Given the description of an element on the screen output the (x, y) to click on. 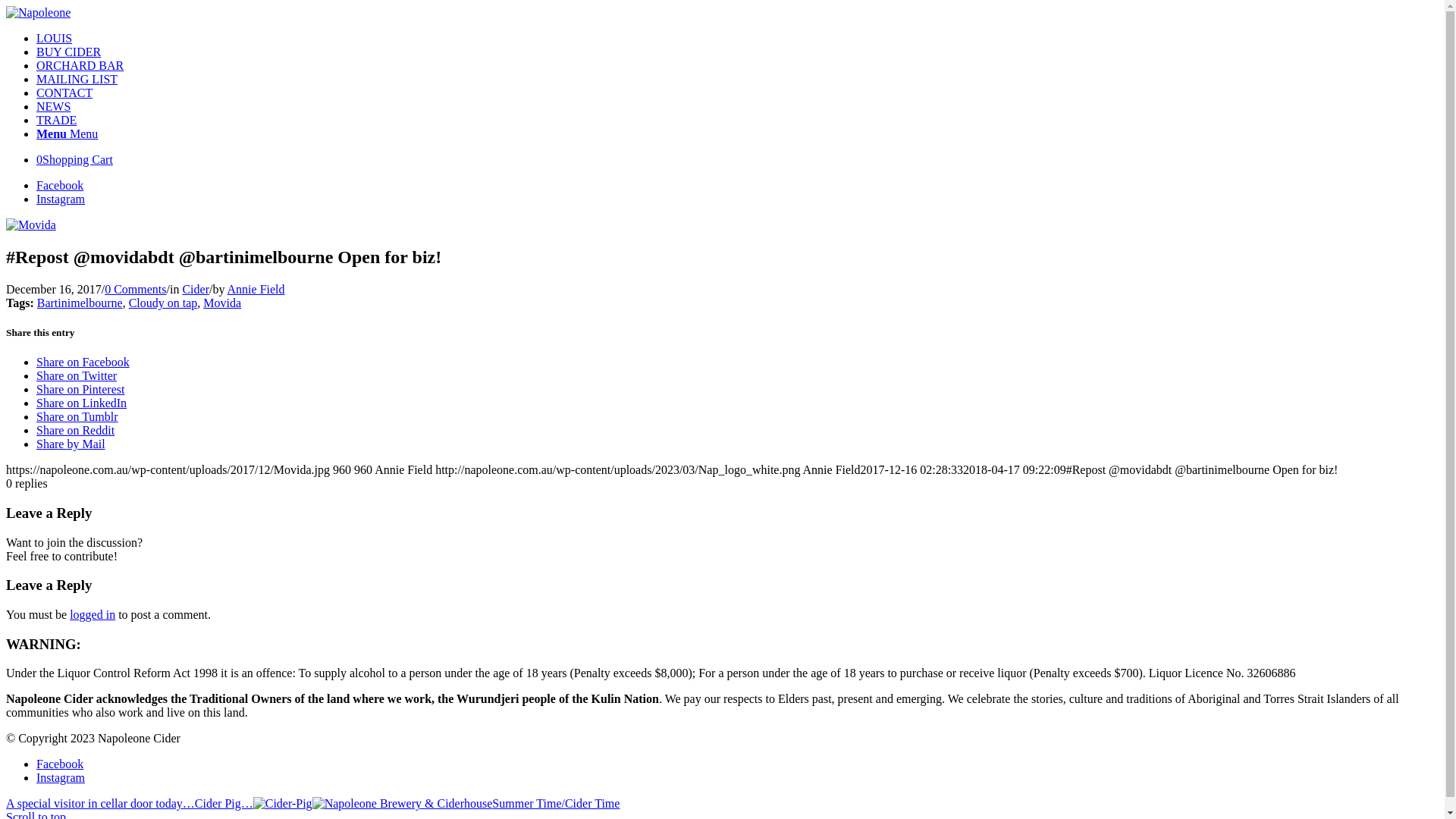
Menu Menu Element type: text (66, 133)
Facebook Element type: text (59, 763)
Annie Field Element type: text (256, 288)
Share on Reddit Element type: text (75, 429)
Share on Tumblr Element type: text (77, 416)
NEWS Element type: text (53, 106)
logged in Element type: text (92, 614)
Movida Element type: hover (31, 224)
Cider Element type: text (195, 288)
Instagram Element type: text (60, 777)
0 Comments Element type: text (135, 288)
CONTACT Element type: text (64, 92)
Share on Facebook Element type: text (82, 361)
Cloudy on tap Element type: text (162, 302)
LOUIS Element type: text (54, 37)
Share on LinkedIn Element type: text (81, 402)
Summer Time/Cider Time Element type: text (466, 803)
Share on Twitter Element type: text (76, 375)
Facebook Element type: text (59, 184)
BUY CIDER Element type: text (68, 51)
Share by Mail Element type: text (70, 443)
TRADE Element type: text (56, 119)
Share on Pinterest Element type: text (80, 388)
MAILING LIST Element type: text (76, 78)
Instagram Element type: text (60, 198)
ORCHARD BAR Element type: text (79, 65)
Movida Element type: text (222, 302)
Bartinimelbourne Element type: text (79, 302)
0Shopping Cart Element type: text (74, 159)
